Given the description of an element on the screen output the (x, y) to click on. 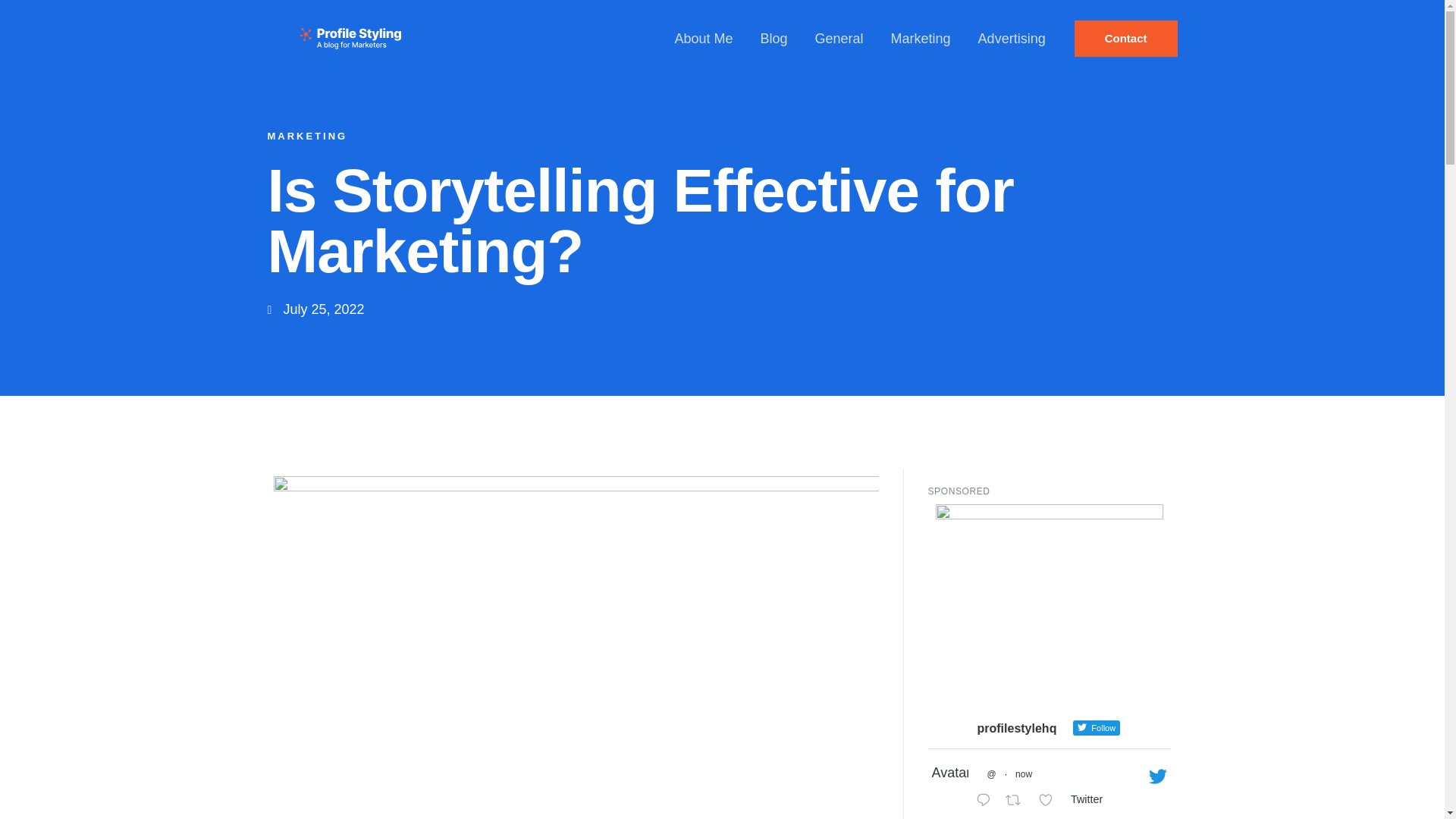
MARKETING (306, 135)
General (839, 38)
profilestylehq Follow (1043, 724)
now (1023, 774)
Marketing (920, 38)
Reply on Twitter (987, 801)
Avatar (949, 780)
Retweet on Twitter (1017, 801)
July 25, 2022 (315, 309)
Advertising (1011, 38)
About Me (703, 38)
Contact (1125, 38)
Blog (772, 38)
Like on Twitter (1050, 801)
